Given the description of an element on the screen output the (x, y) to click on. 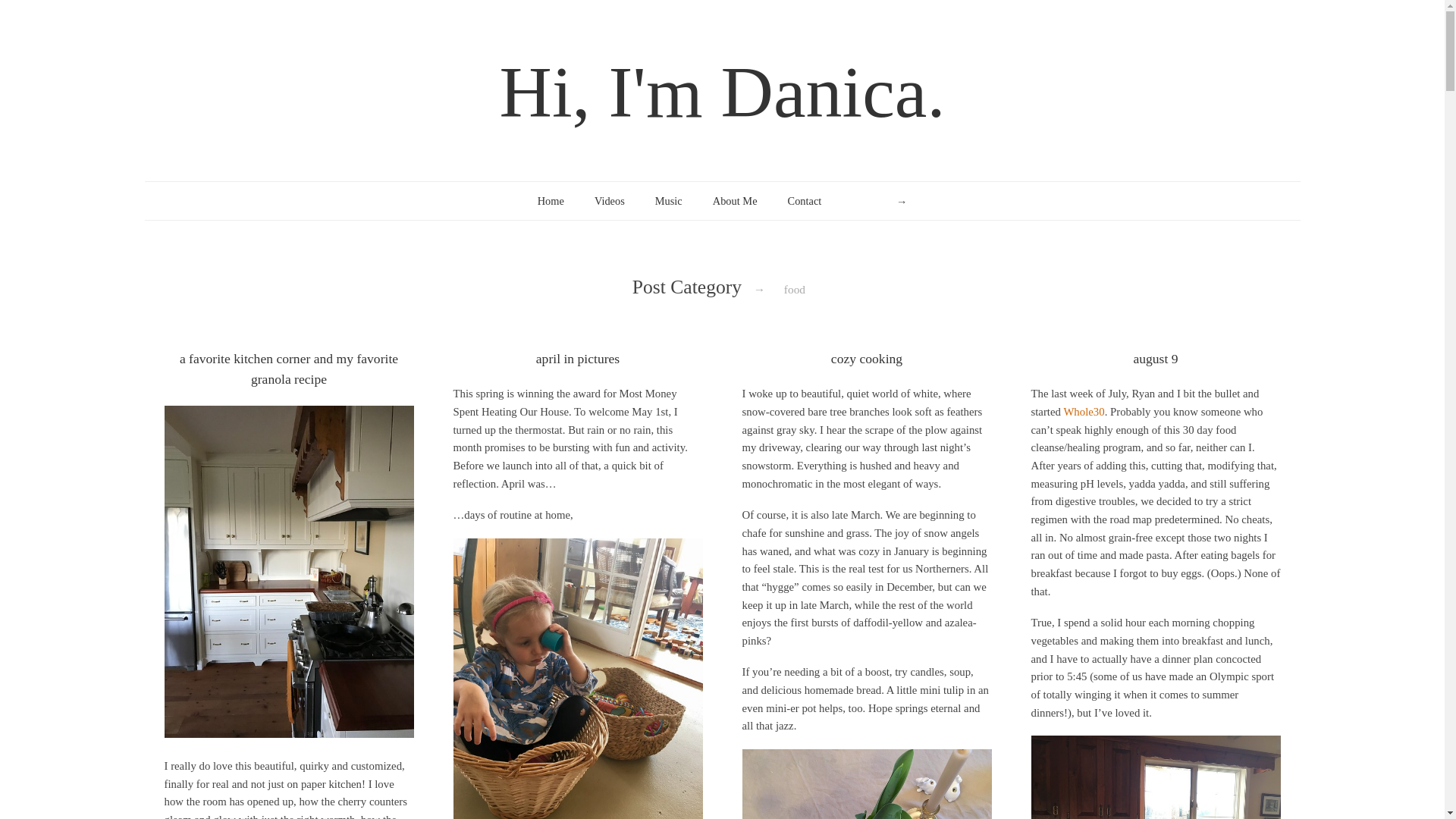
Contact (804, 200)
Home (550, 200)
About Me (735, 200)
Hi, I'm Danica. (721, 91)
Music (668, 200)
Enter keyword (879, 201)
august 9 (1154, 358)
april in pictures (577, 358)
a favorite kitchen corner and my favorite granola recipe (288, 368)
cozy cooking (866, 358)
